Given the description of an element on the screen output the (x, y) to click on. 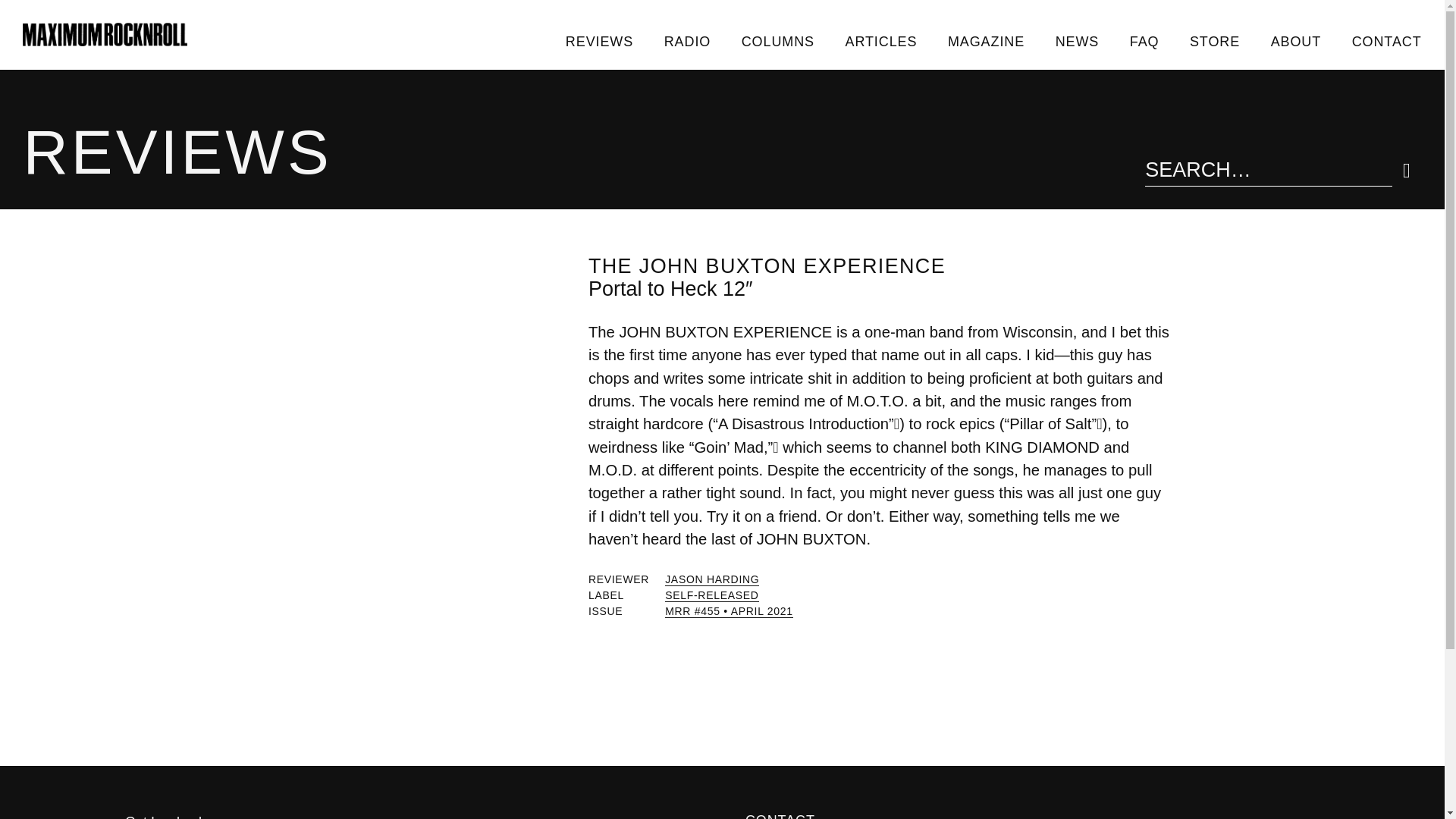
FAQ (1143, 41)
JASON HARDING (711, 579)
NEWS (1076, 41)
SELF-RELEASED (711, 594)
ARTICLES (880, 41)
Get Involved (411, 815)
REVIEWS (599, 41)
STORE (1214, 41)
RADIO (686, 41)
CONTACT (1385, 41)
MAGAZINE (987, 41)
THE JOHN BUXTON EXPERIENCE (766, 265)
COLUMNS (777, 41)
ABOUT (1295, 41)
